Given the description of an element on the screen output the (x, y) to click on. 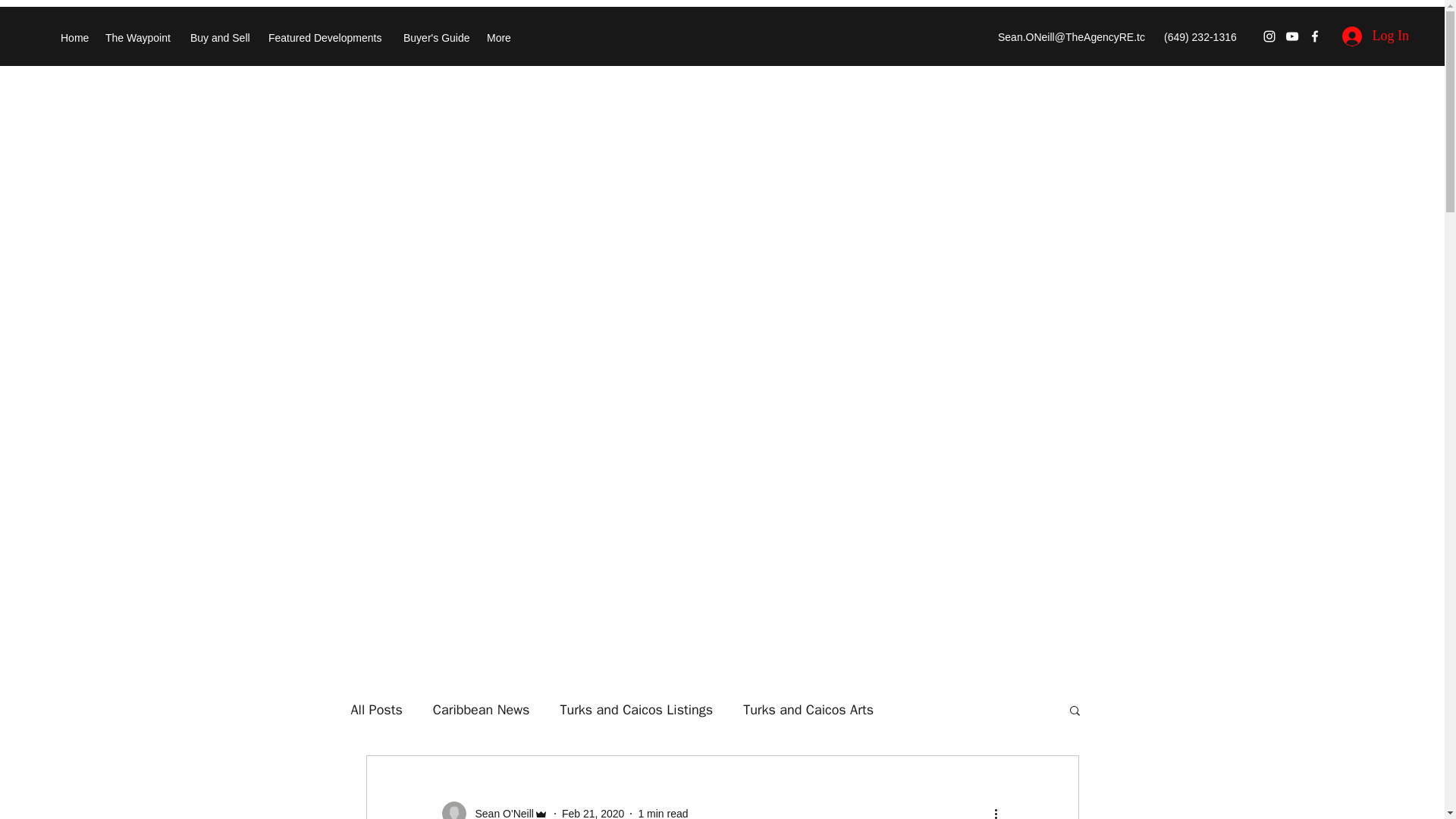
Sean O'Neill (494, 810)
Log In (1376, 36)
Turks and Caicos Listings (636, 710)
Turks and Caicos Arts (807, 710)
Caribbean News (480, 710)
Buyer's Guide (437, 38)
All Posts (375, 710)
Feb 21, 2020 (593, 812)
Sean O'Neill (498, 812)
1 min read (662, 812)
